Given the description of an element on the screen output the (x, y) to click on. 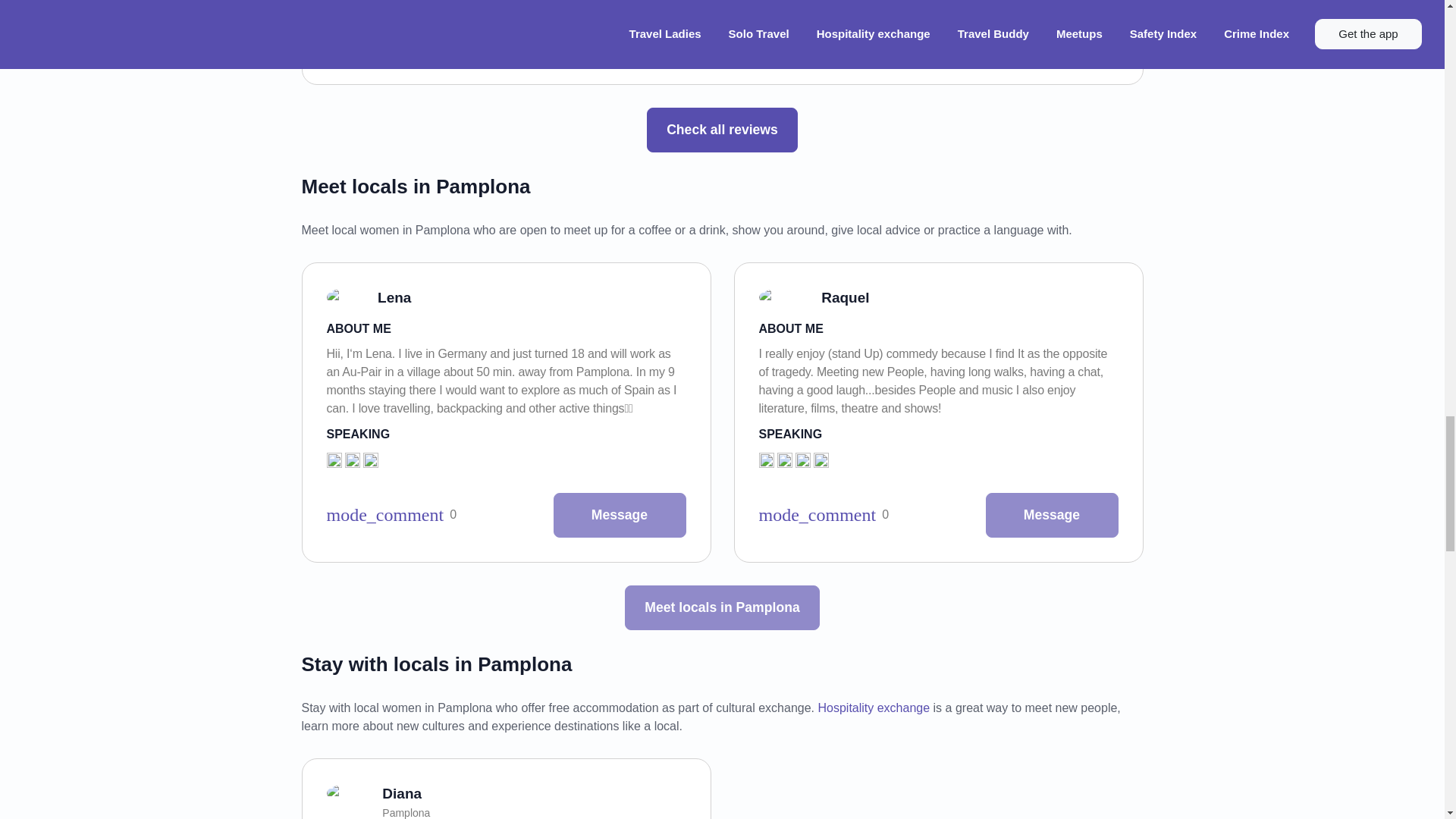
Hospitality exchange (873, 707)
Polish (369, 459)
Italian (784, 459)
Catalan (820, 459)
References (823, 515)
Comments (523, 50)
Spanish (801, 459)
Message (1051, 515)
Meet locals in Pamplona (721, 607)
References (391, 515)
